Given the description of an element on the screen output the (x, y) to click on. 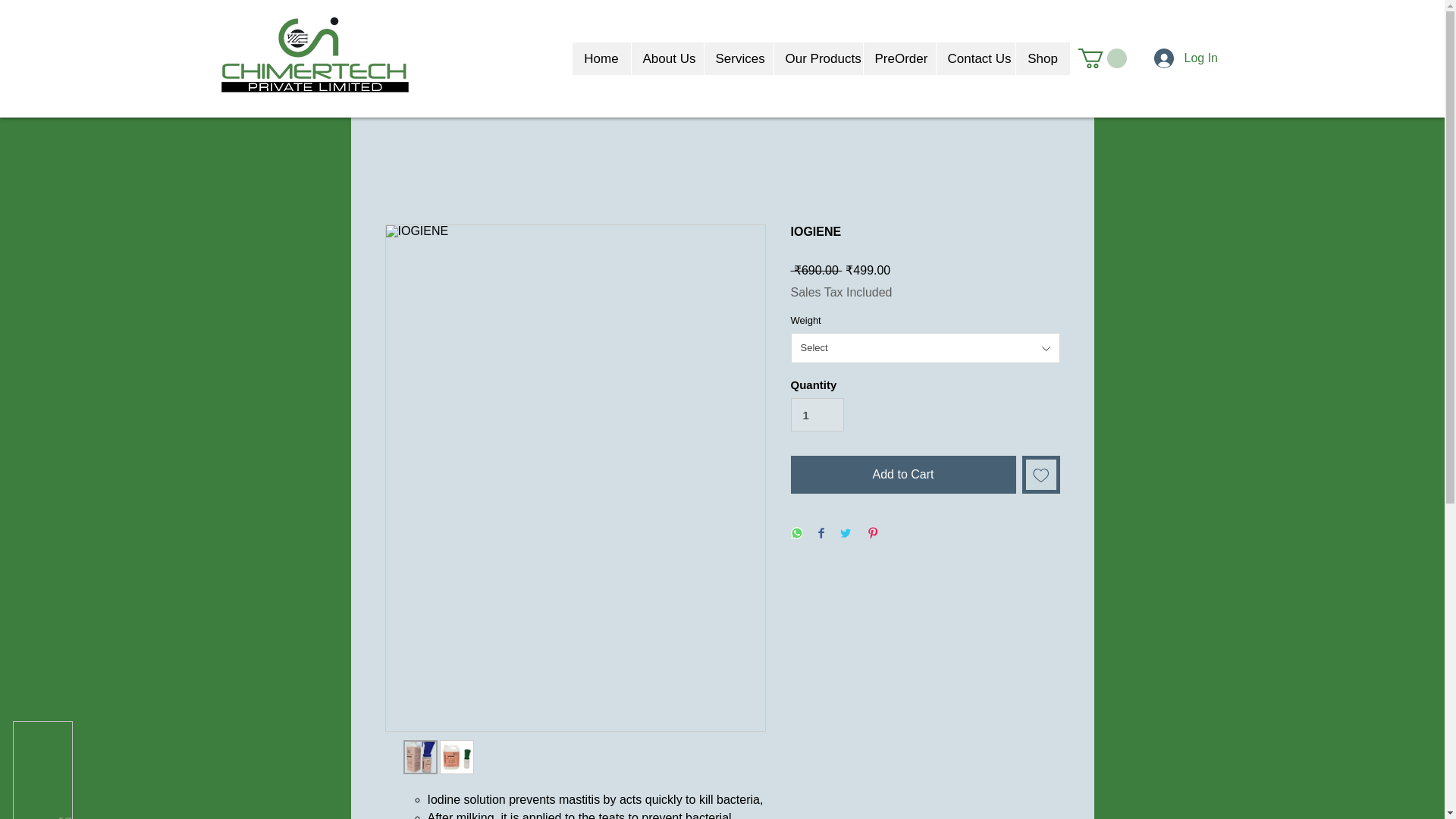
Our Products (818, 58)
Services (738, 58)
Log In (1168, 58)
About Us (666, 58)
Contact Us (975, 58)
Shop (1041, 58)
Select (924, 347)
1 (817, 414)
Add to Cart (902, 474)
Home (601, 58)
PreOrder (899, 58)
